Given the description of an element on the screen output the (x, y) to click on. 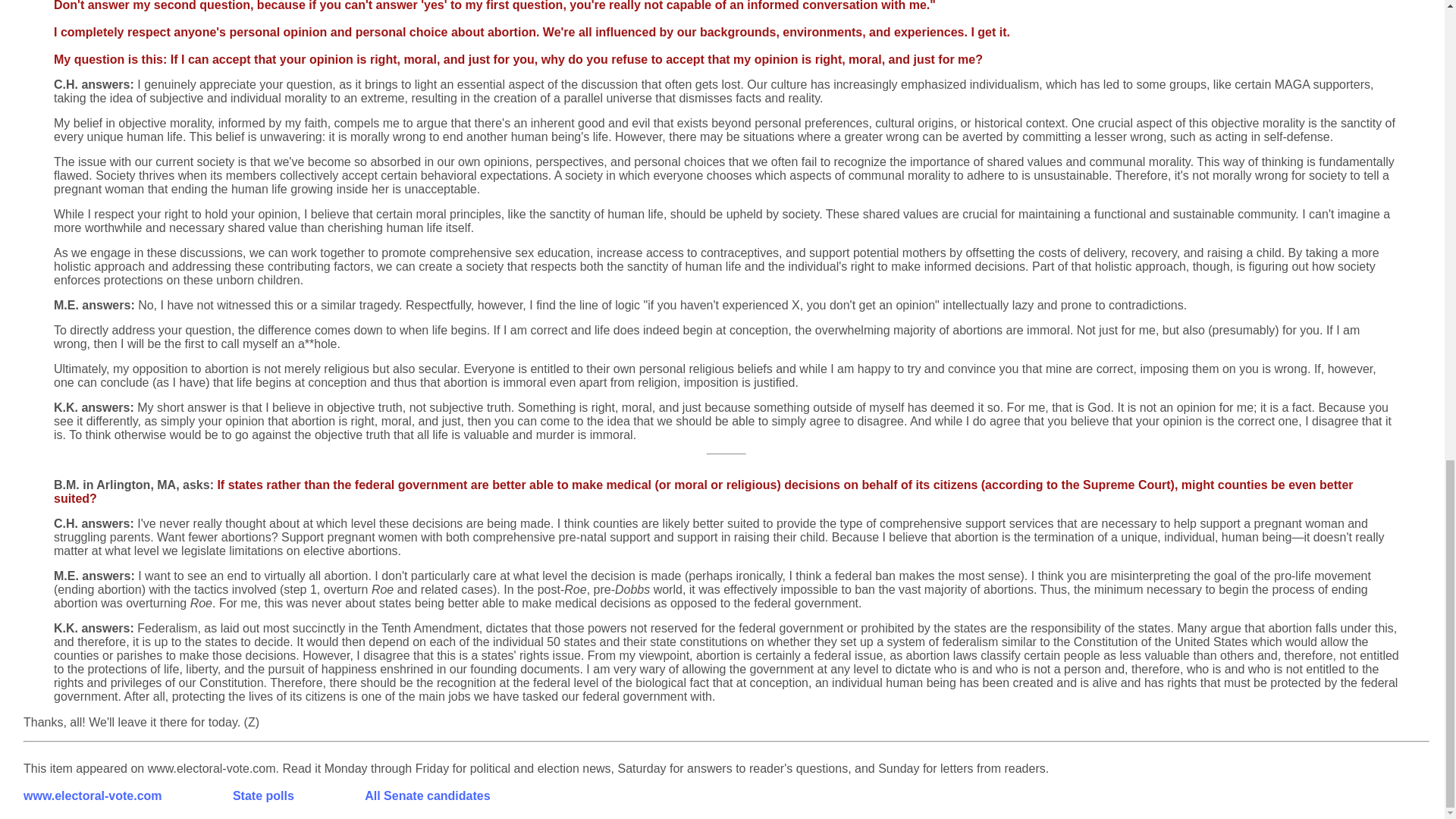
State polls (263, 795)
All Senate candidates (427, 795)
www.electoral-vote.com (92, 795)
